Given the description of an element on the screen output the (x, y) to click on. 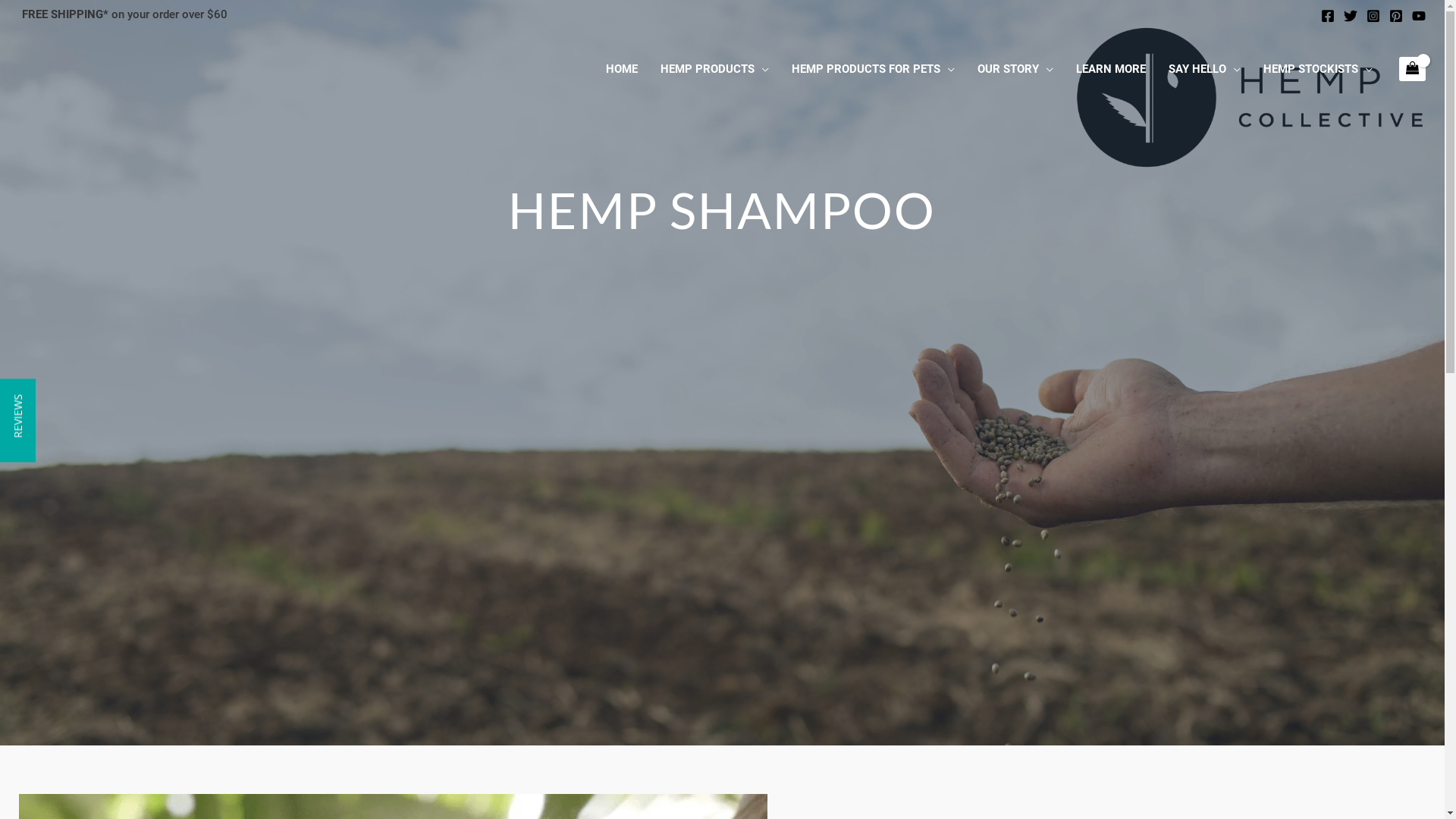
LEARN MORE Element type: text (1110, 68)
SAY HELLO Element type: text (1204, 68)
HEMP PRODUCTS FOR PETS Element type: text (873, 68)
OUR STORY Element type: text (1015, 68)
HOME Element type: text (621, 68)
HEMP PRODUCTS Element type: text (714, 68)
HEMP STOCKISTS Element type: text (1317, 68)
